Given the description of an element on the screen output the (x, y) to click on. 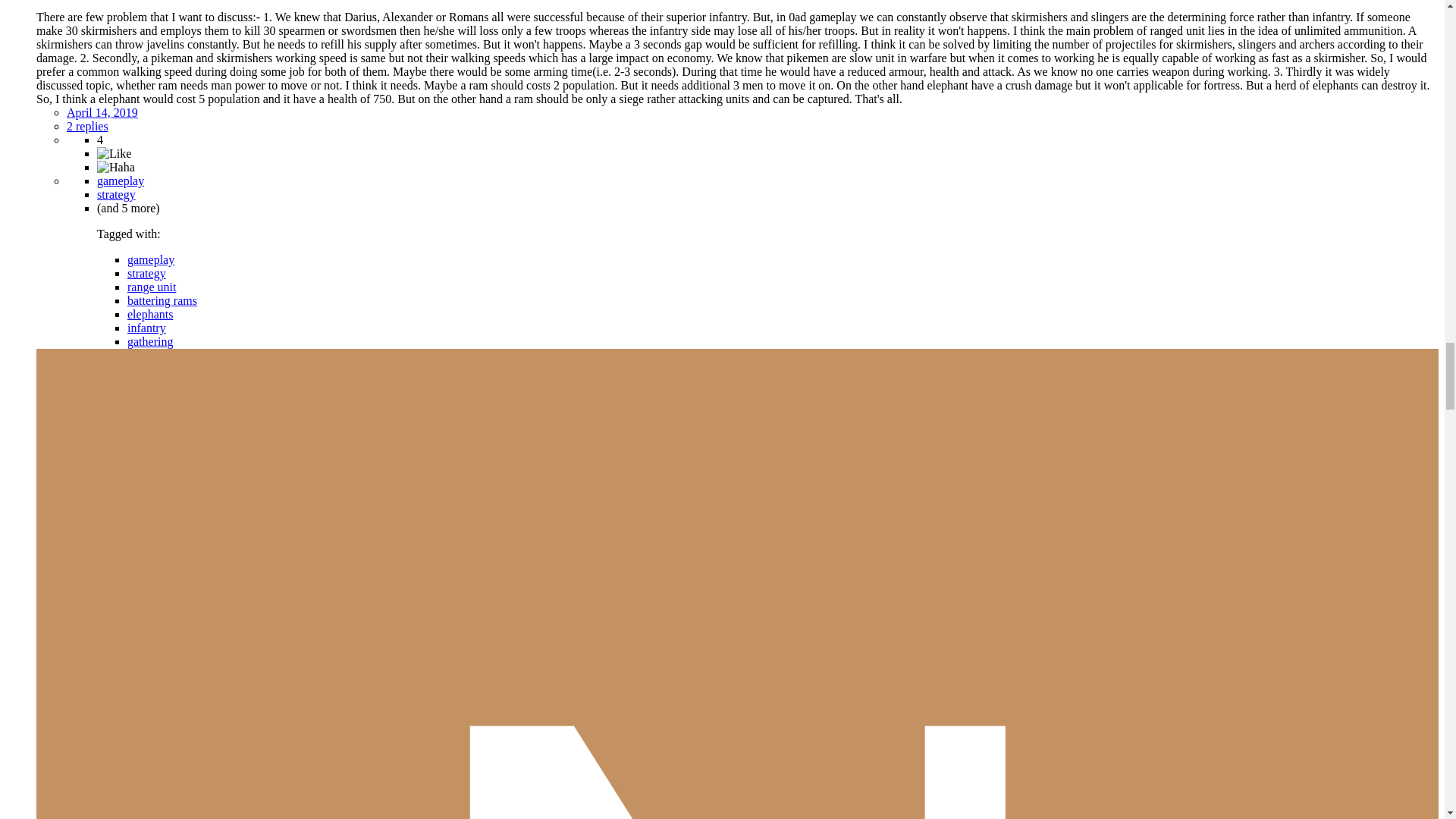
Find other content tagged with 'gameplay' (120, 180)
2019-04-14 14:25  (102, 112)
Find other content tagged with 'strategy' (116, 194)
Find other content tagged with 'range unit' (152, 286)
Find other content tagged with 'elephants' (150, 314)
Find other content tagged with 'battering rams' (162, 300)
Find other content tagged with 'strategy' (146, 273)
Find other content tagged with 'gameplay' (151, 259)
Like (114, 153)
Find other content tagged with 'gathering' (150, 341)
Haha (116, 166)
Find other content tagged with 'infantry' (146, 327)
